Given the description of an element on the screen output the (x, y) to click on. 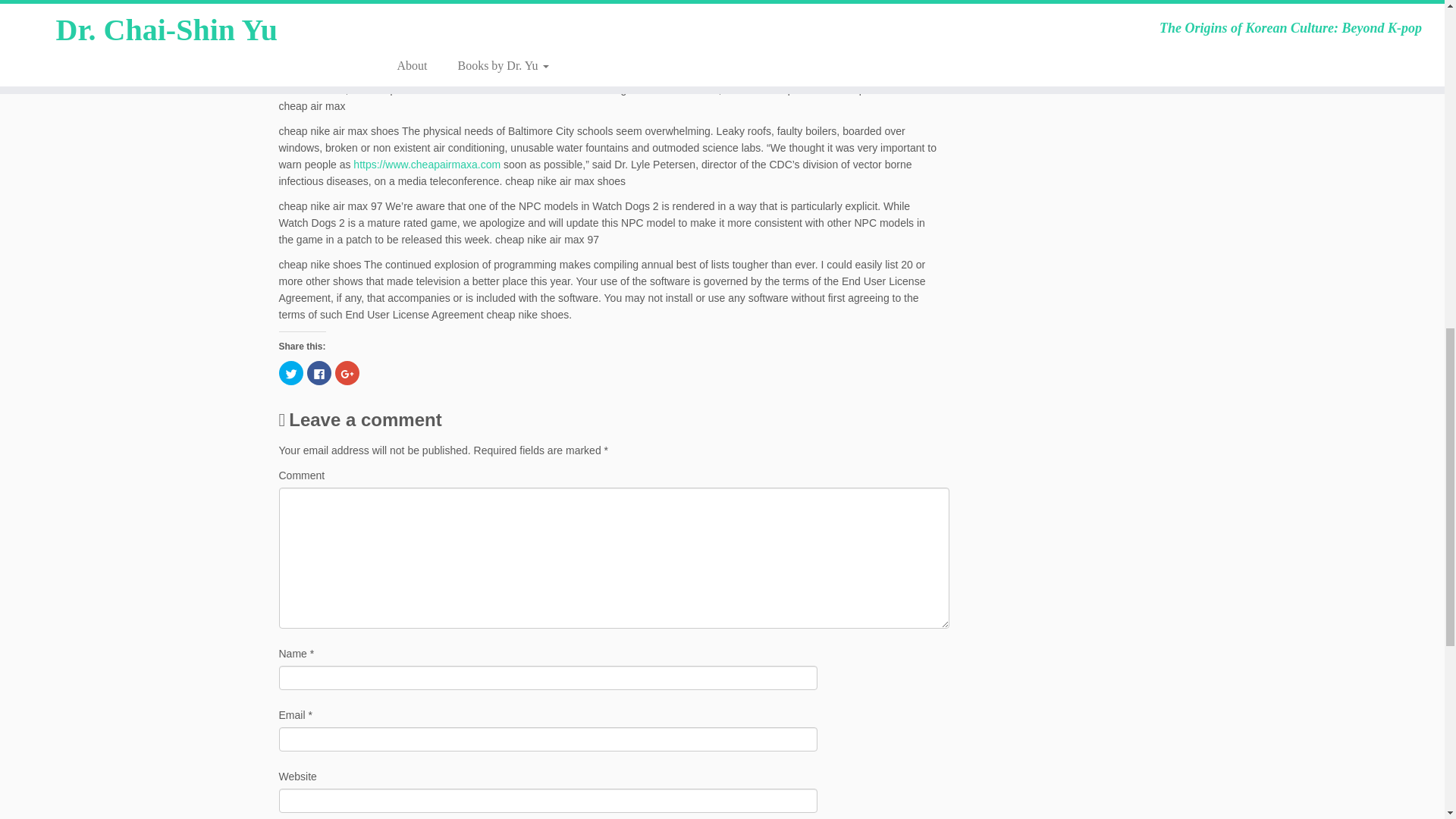
Click to share on Facebook (317, 372)
Click to share on Twitter (290, 372)
